Given the description of an element on the screen output the (x, y) to click on. 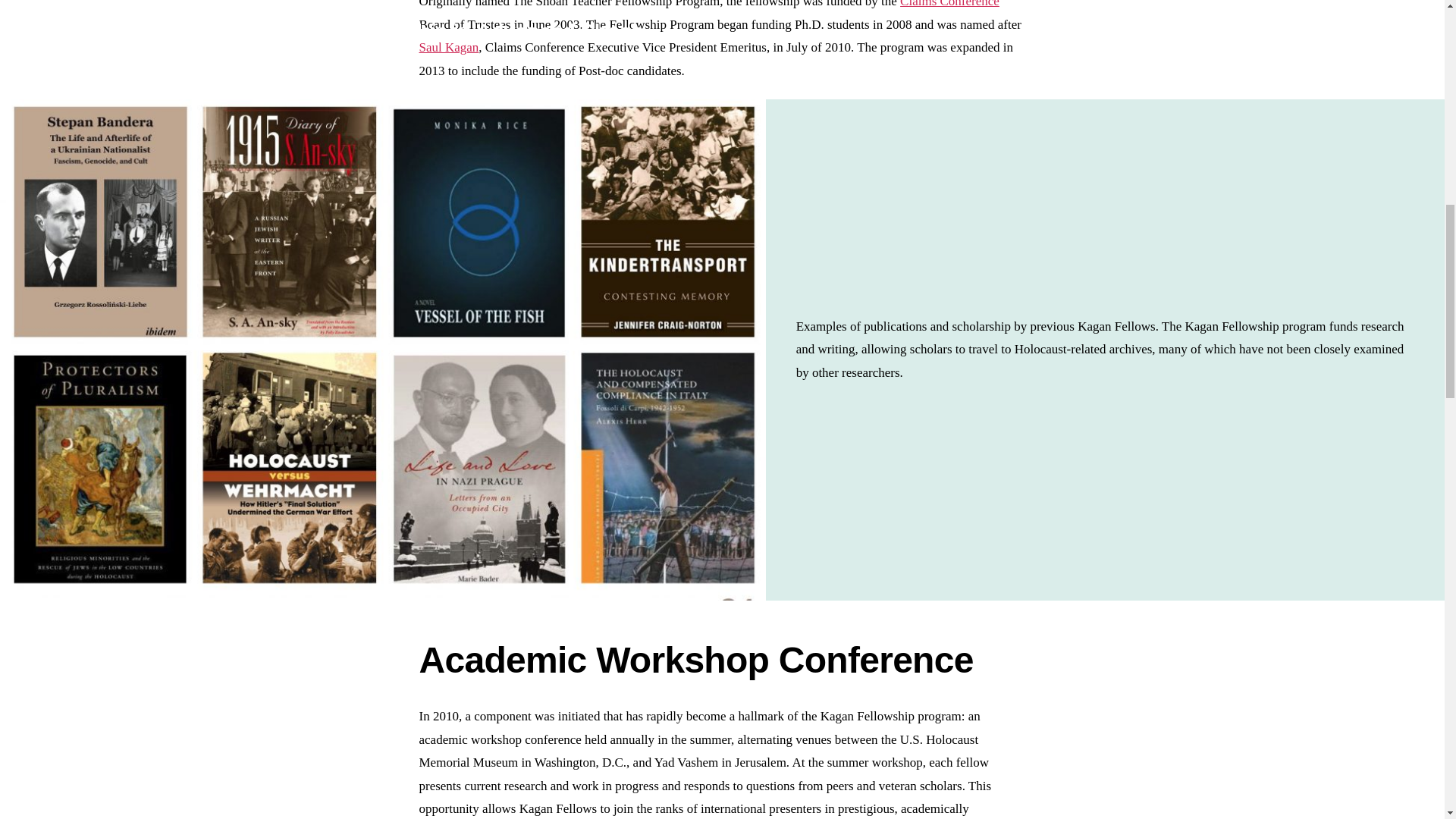
Saul Kagan (449, 47)
